Given the description of an element on the screen output the (x, y) to click on. 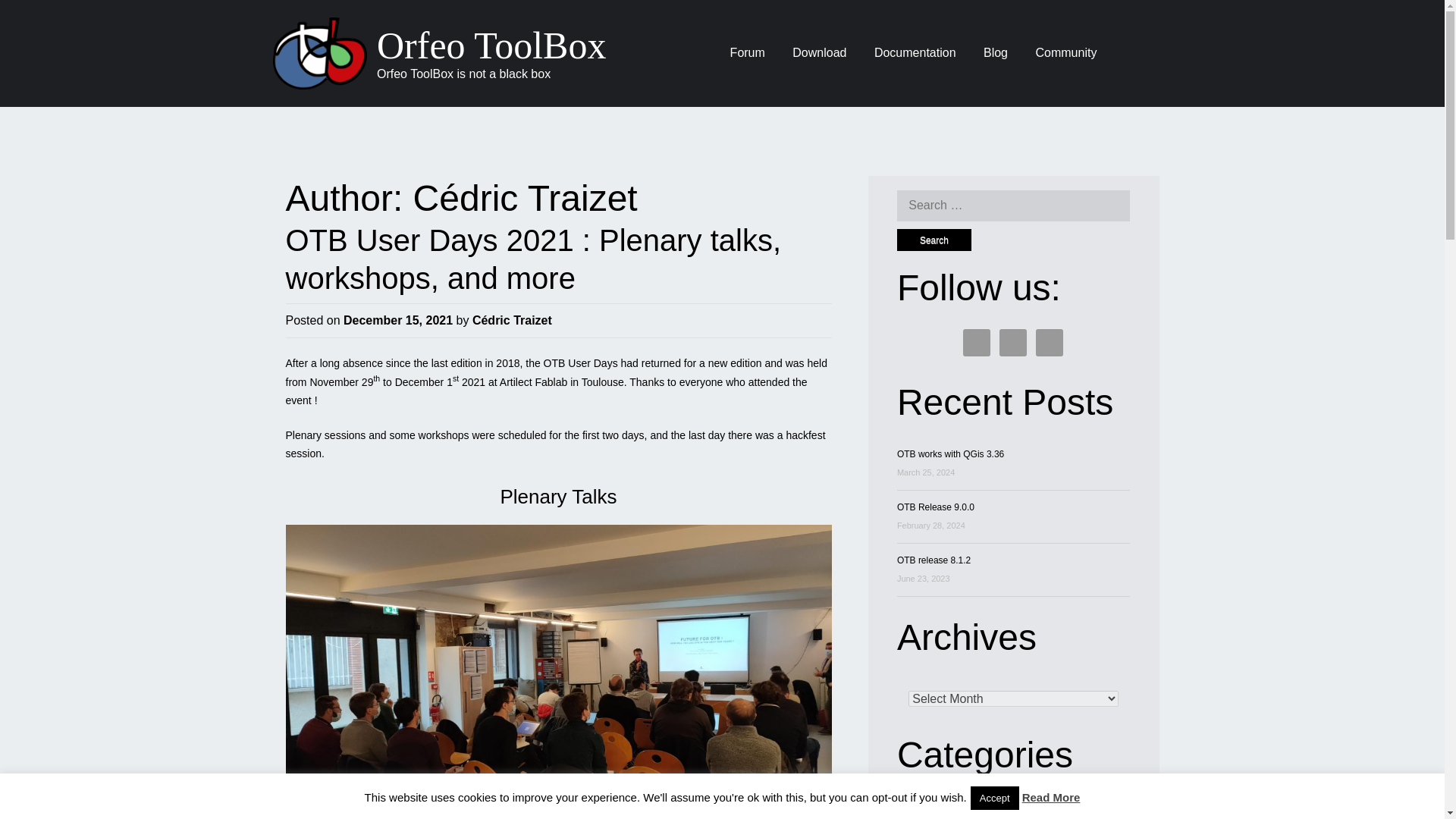
Search for: (1012, 205)
OTB release 8.1.2 (933, 560)
Search (933, 239)
Forum (747, 52)
Search (933, 239)
Orfeo ToolBox (492, 45)
OTB User Days 2021 : Plenary talks, workshops, and more (532, 258)
Search (933, 239)
OTB Release 9.0.0 (935, 507)
09:23 (397, 319)
Download (818, 52)
Blog (995, 52)
Orfeo ToolBox (492, 45)
Documentation (915, 52)
December 15, 2021 (397, 319)
